Given the description of an element on the screen output the (x, y) to click on. 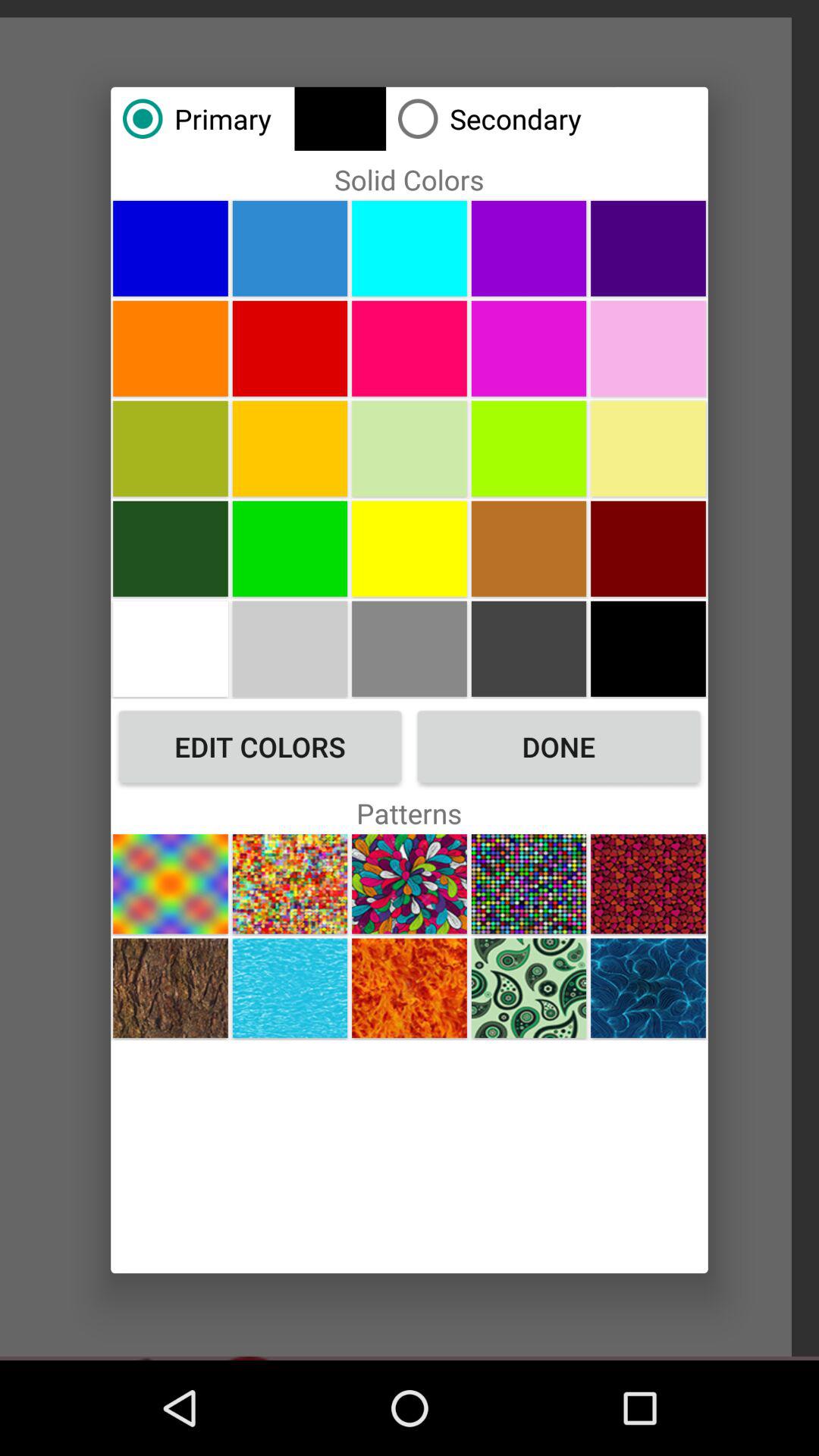
select grey (409, 648)
